Given the description of an element on the screen output the (x, y) to click on. 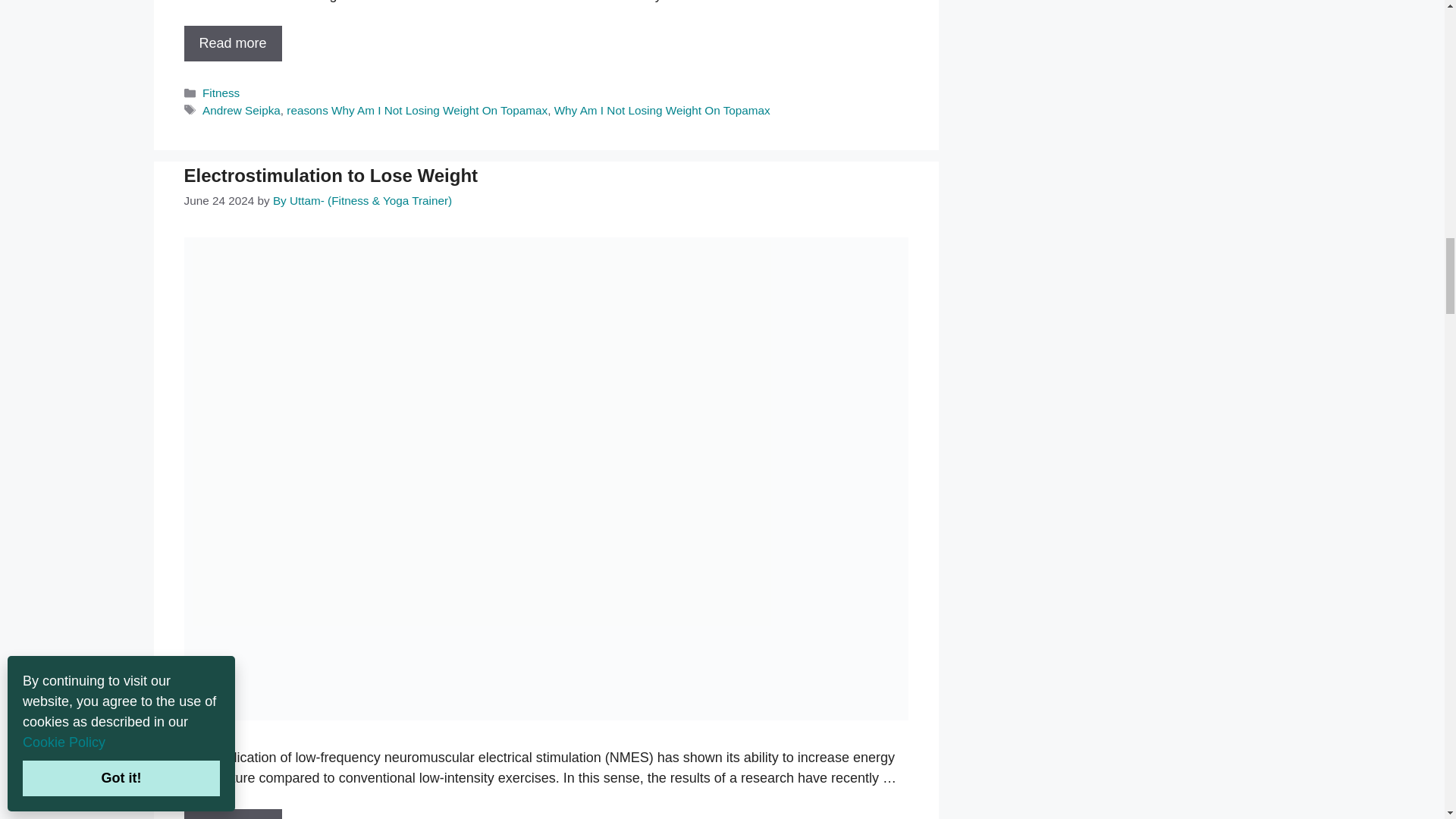
Electrostimulation to Lose Weight (232, 814)
Why Am I Not Losing Weight On Topamax? (232, 43)
